Given the description of an element on the screen output the (x, y) to click on. 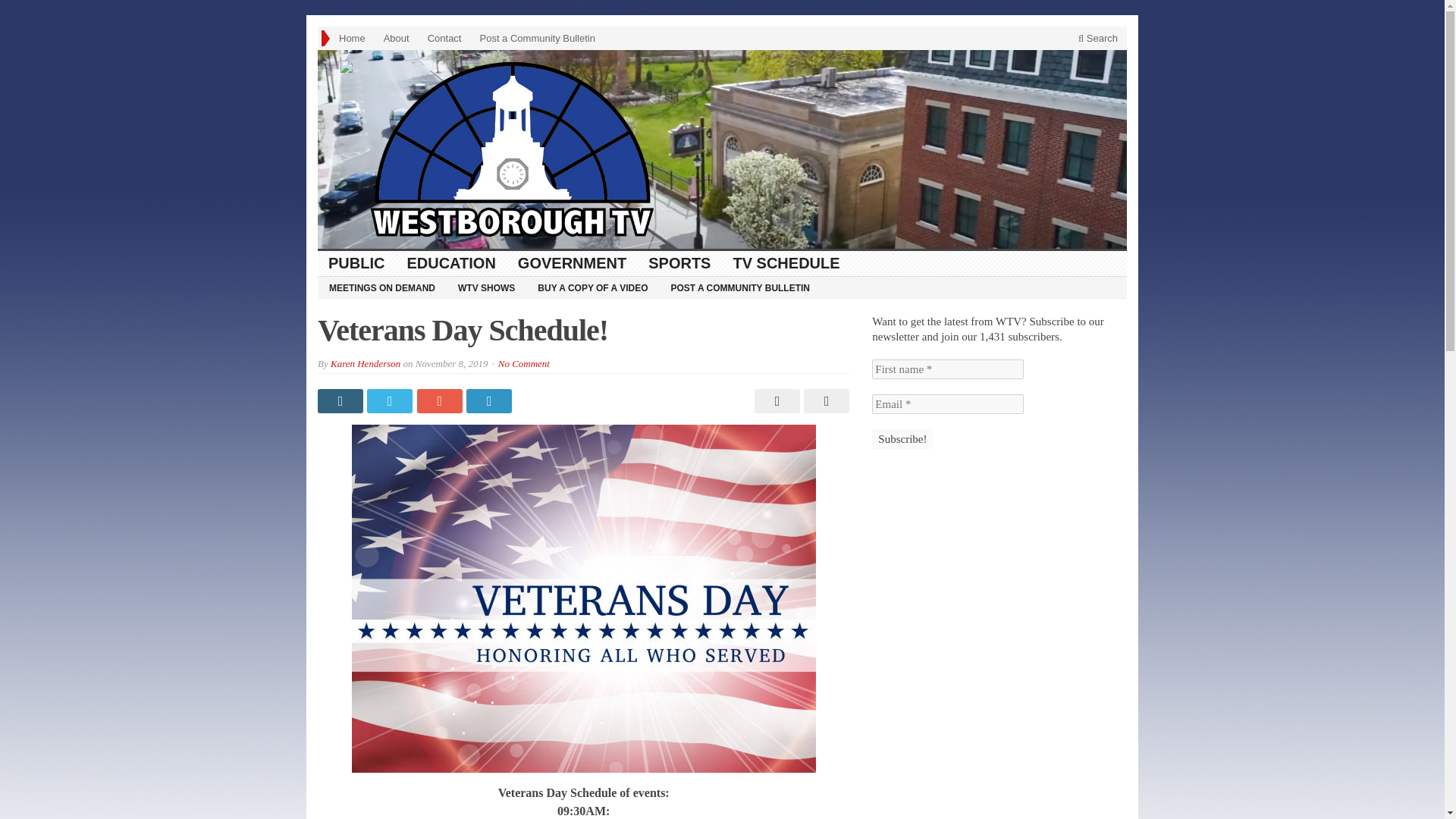
About (396, 37)
Contact (444, 37)
Subscribe! (902, 438)
First name (947, 369)
SPORTS (679, 263)
EDUCATION (451, 263)
PUBLIC (356, 263)
Search (1097, 37)
Home (352, 37)
